Given the description of an element on the screen output the (x, y) to click on. 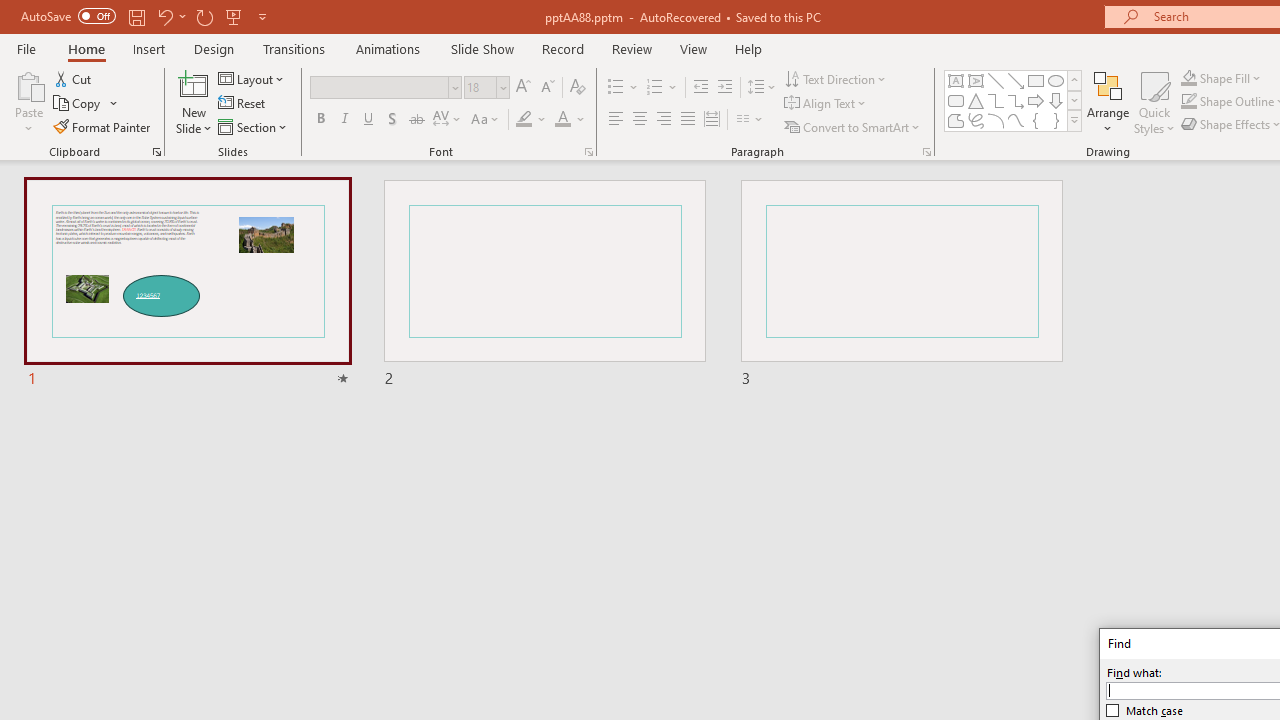
Shape Outline Teal, Accent 1 (1188, 101)
